Given the description of an element on the screen output the (x, y) to click on. 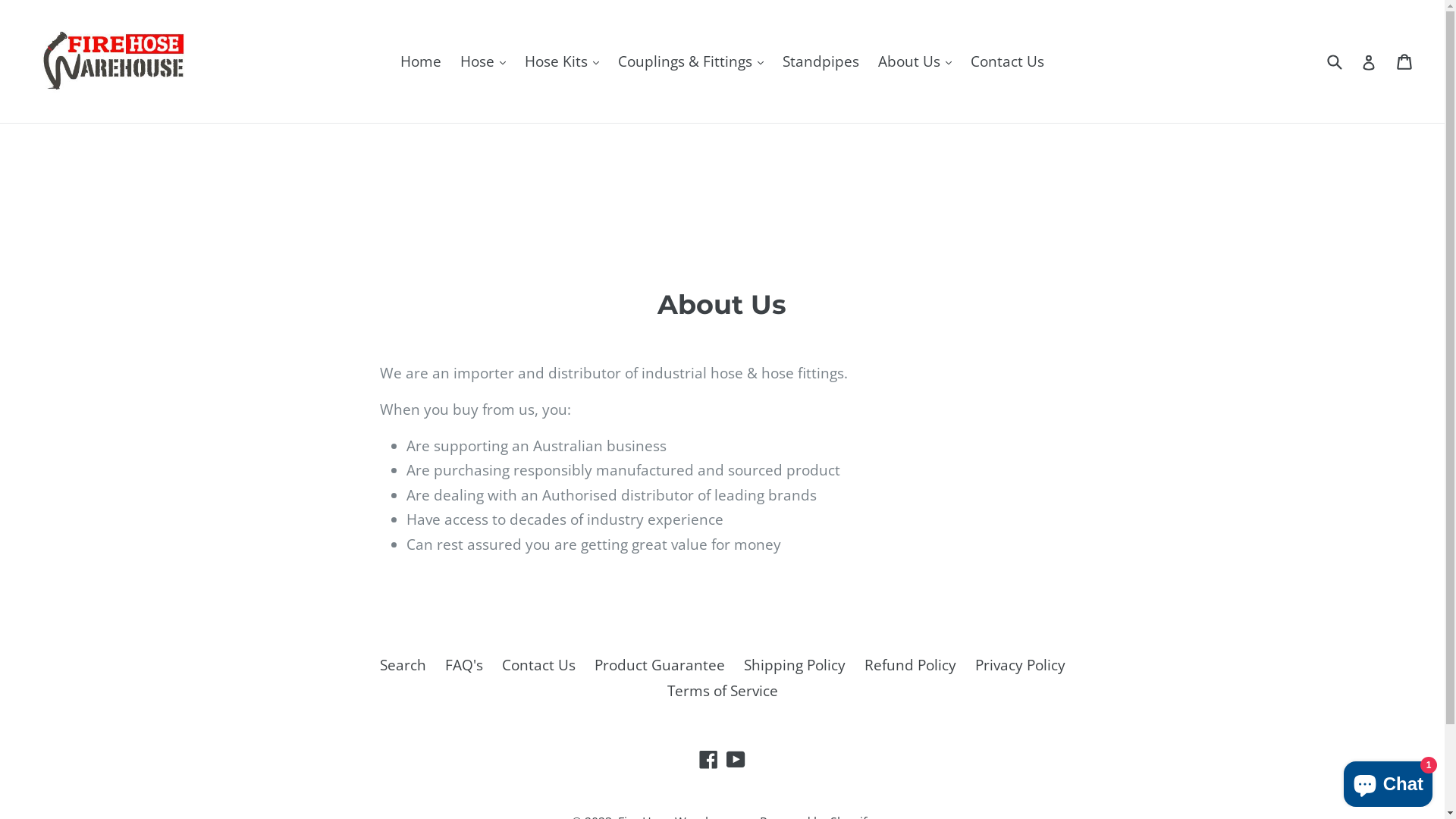
Privacy Policy Element type: text (1020, 664)
Terms of Service Element type: text (722, 690)
Contact Us Element type: text (1007, 61)
Cart
Cart Element type: text (1405, 60)
Submit Element type: text (1333, 61)
Log in Element type: text (1368, 61)
Facebook Element type: text (708, 757)
Shipping Policy Element type: text (793, 664)
Shopify online store chat Element type: hover (1388, 780)
Product Guarantee Element type: text (659, 664)
FAQ's Element type: text (463, 664)
Contact Us Element type: text (538, 664)
Standpipes Element type: text (820, 61)
YouTube Element type: text (735, 757)
Refund Policy Element type: text (910, 664)
Search Element type: text (402, 664)
Home Element type: text (420, 61)
